Given the description of an element on the screen output the (x, y) to click on. 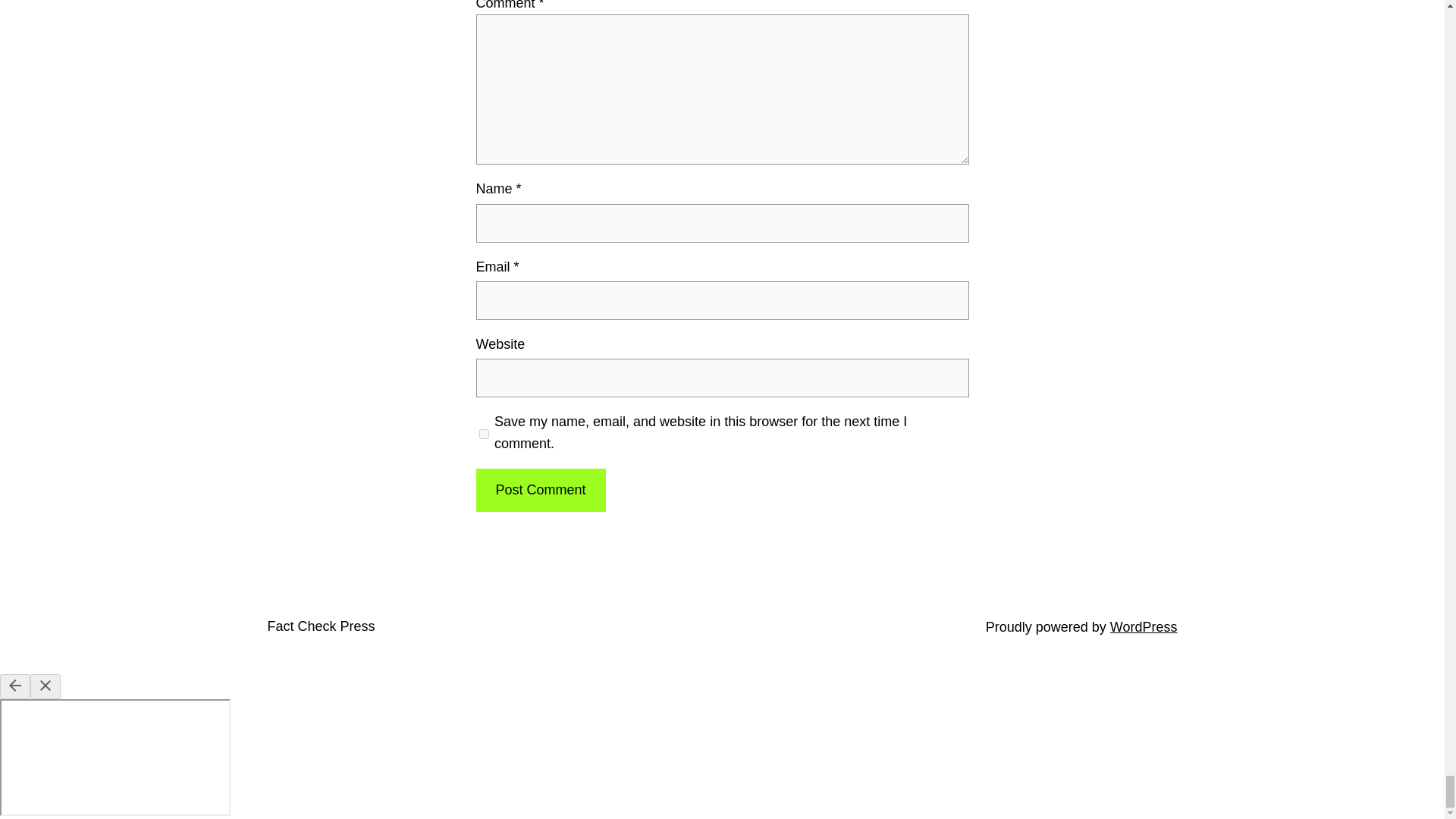
Fact Check Press (320, 626)
WordPress (1143, 626)
Post Comment (540, 489)
Post Comment (540, 489)
